Given the description of an element on the screen output the (x, y) to click on. 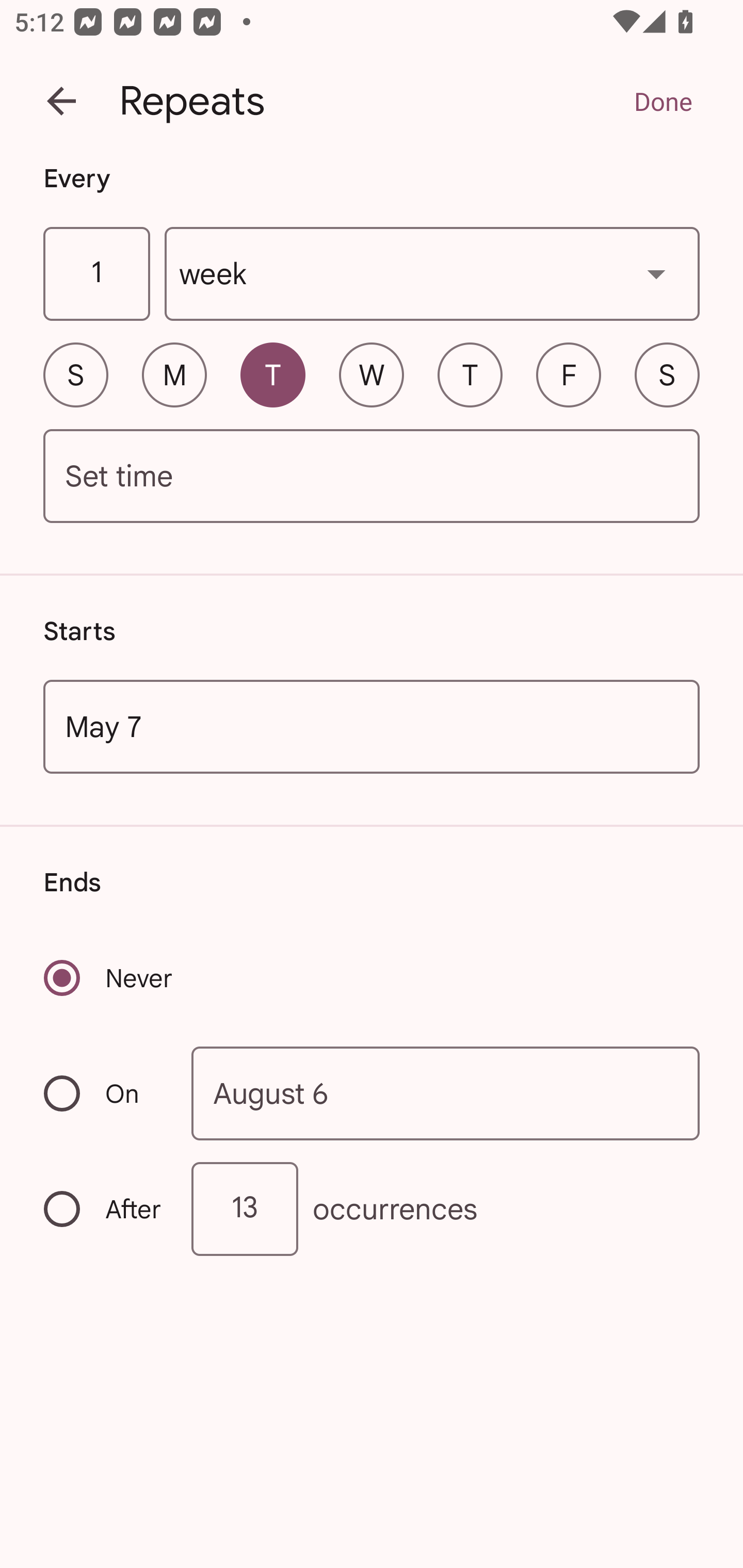
Back (61, 101)
Done (663, 101)
1 (96, 274)
week (431, 274)
Show dropdown menu (655, 273)
S Sunday (75, 374)
M Monday (173, 374)
T Tuesday, selected (272, 374)
W Wednesday (371, 374)
T Thursday (469, 374)
F Friday (568, 374)
S Saturday (666, 374)
Set time (371, 476)
May 7 (371, 726)
Never Recurrence never ends (109, 978)
August 6 (445, 1092)
On Recurrence ends on a specific date (104, 1093)
13 (244, 1208)
